Given the description of an element on the screen output the (x, y) to click on. 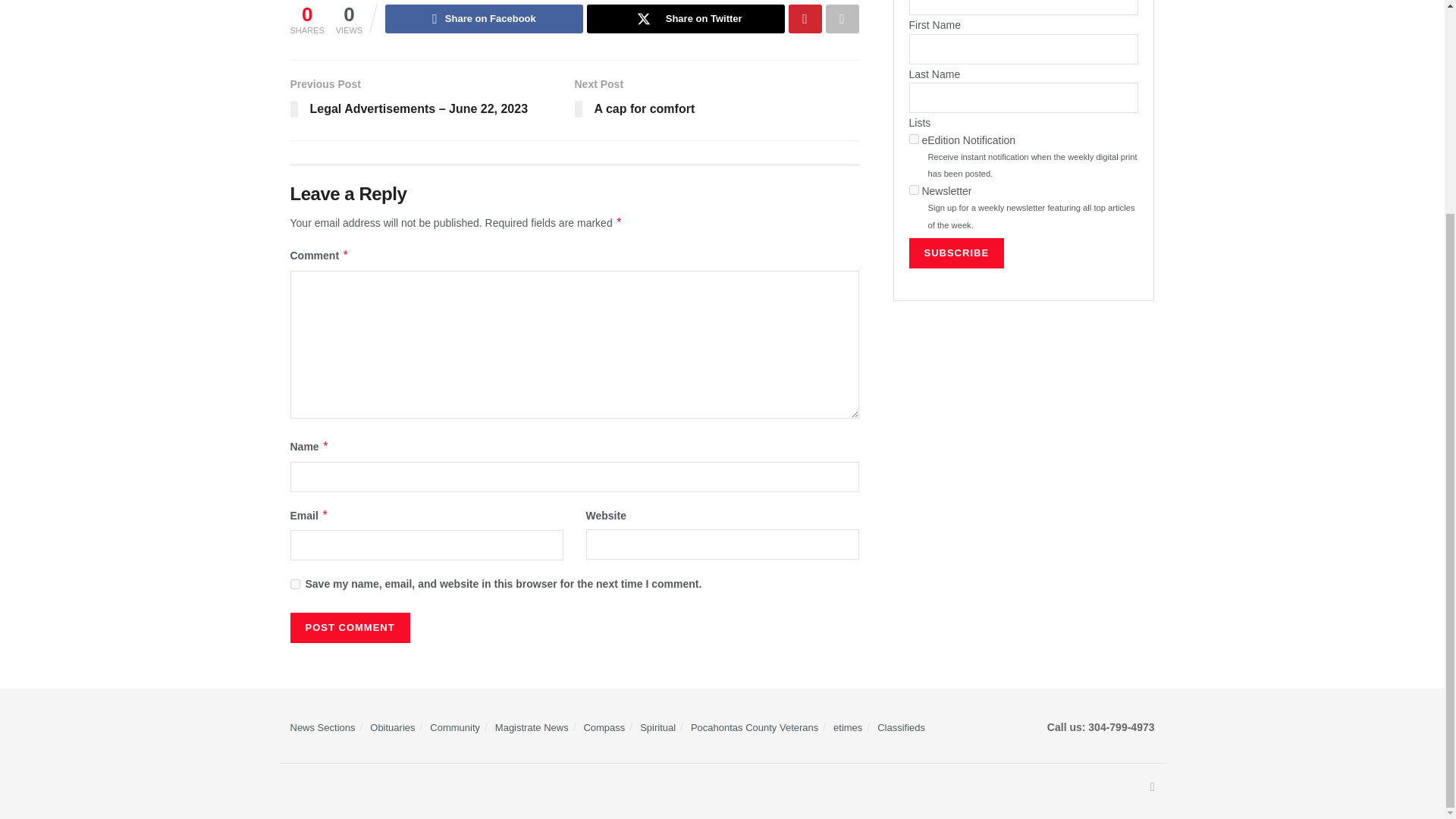
1 (913, 139)
yes (294, 583)
Post Comment (349, 627)
2 (913, 189)
Subscribe (956, 253)
